Given the description of an element on the screen output the (x, y) to click on. 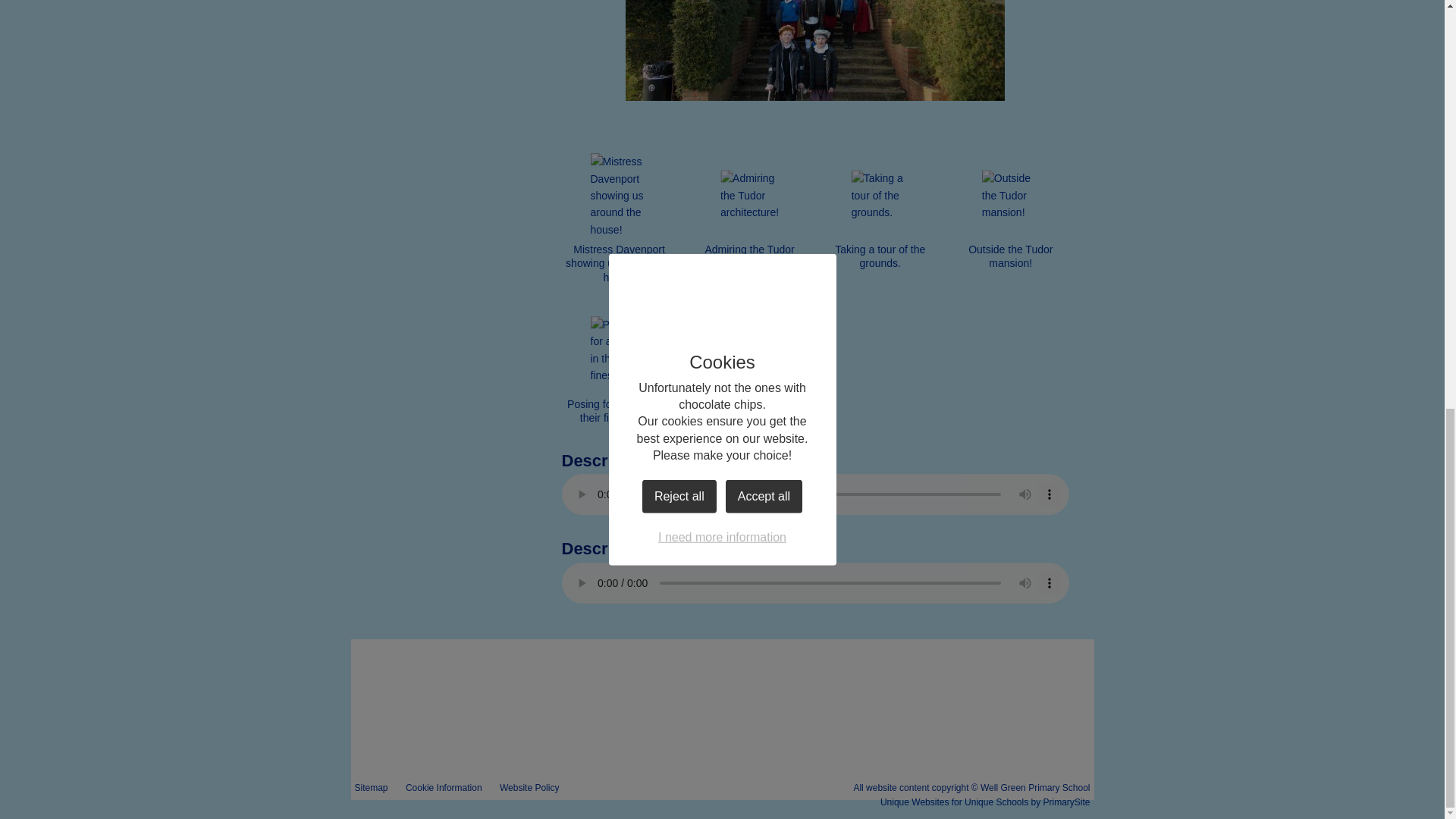
View large version of image (618, 350)
View large version of image (1010, 195)
View large version of image (750, 195)
View large version of image (879, 195)
View large version of image (618, 195)
View large version of image (750, 350)
